Given the description of an element on the screen output the (x, y) to click on. 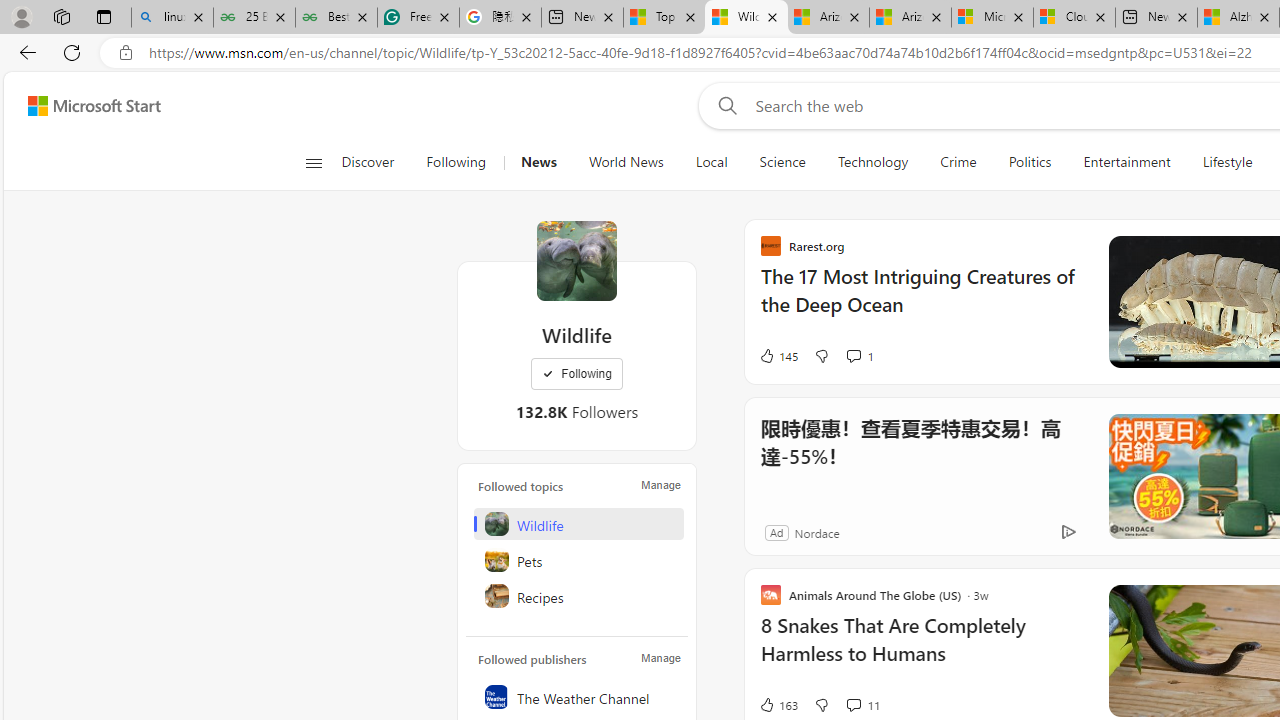
Free AI Writing Assistance for Students | Grammarly (418, 17)
145 Like (778, 355)
